Given the description of an element on the screen output the (x, y) to click on. 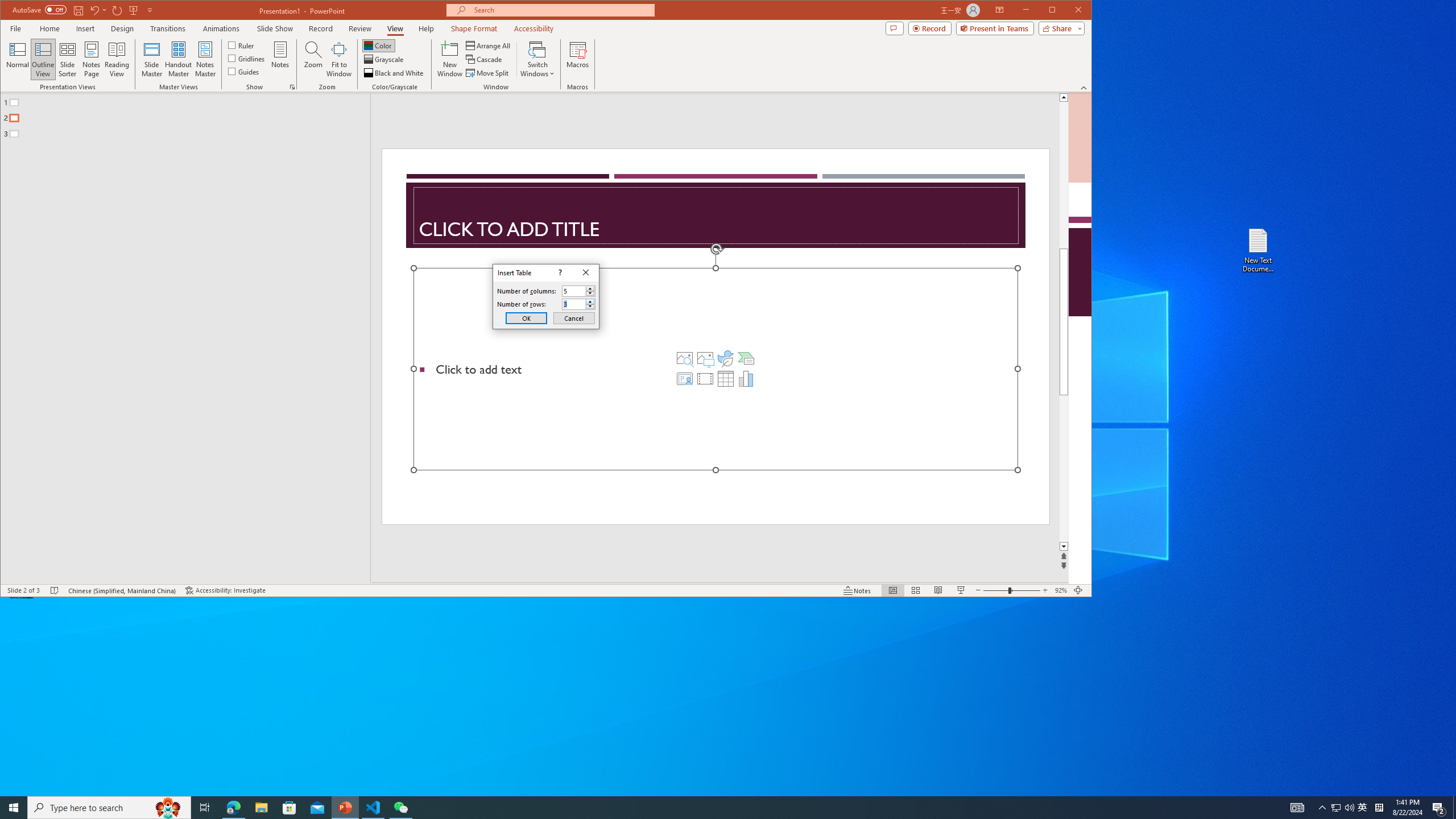
Number of rows (573, 303)
Number of rows (578, 303)
Move Split (488, 72)
Outline (189, 115)
Context help (559, 272)
